Given the description of an element on the screen output the (x, y) to click on. 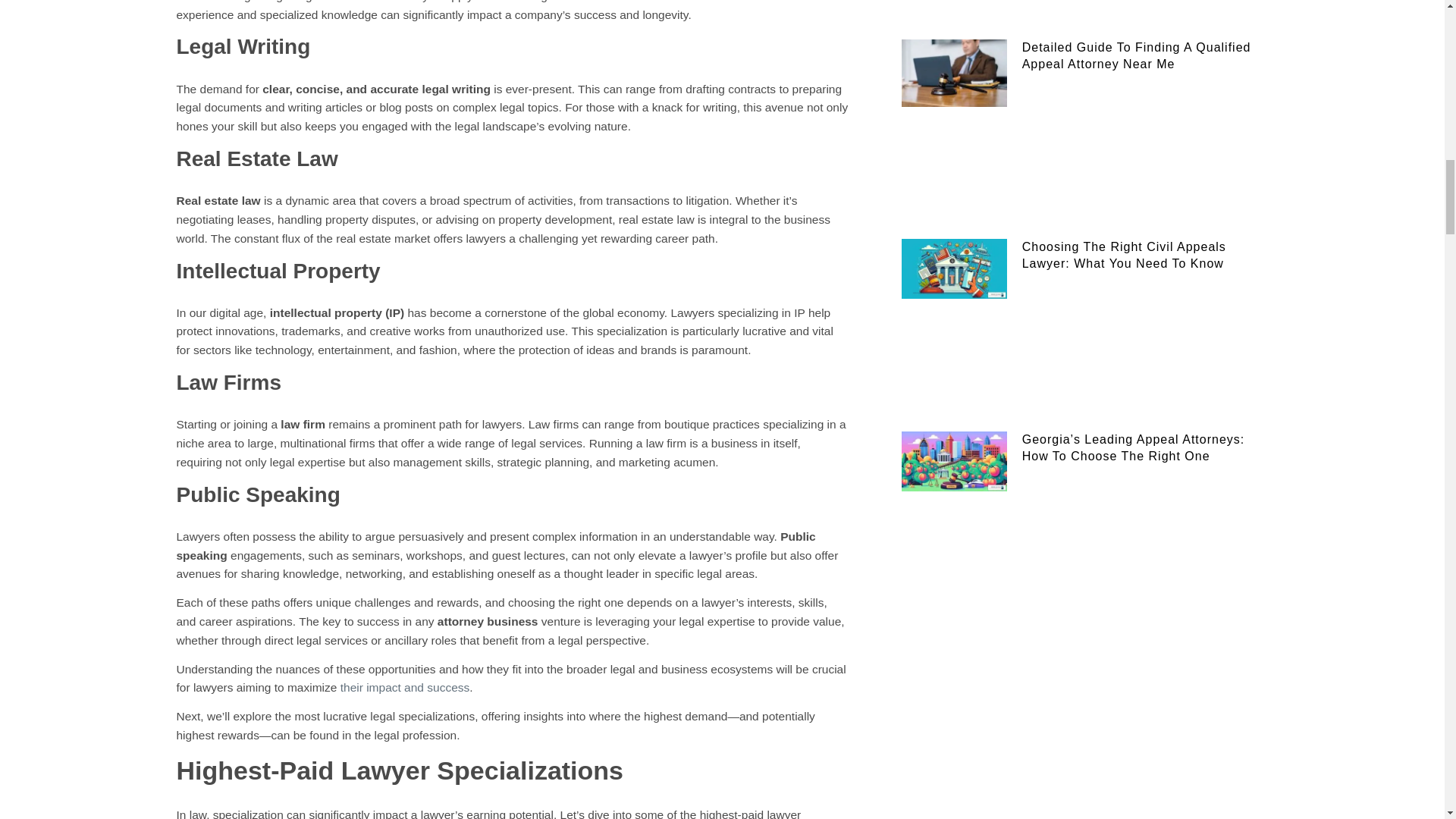
their impact and success (405, 686)
